Given the description of an element on the screen output the (x, y) to click on. 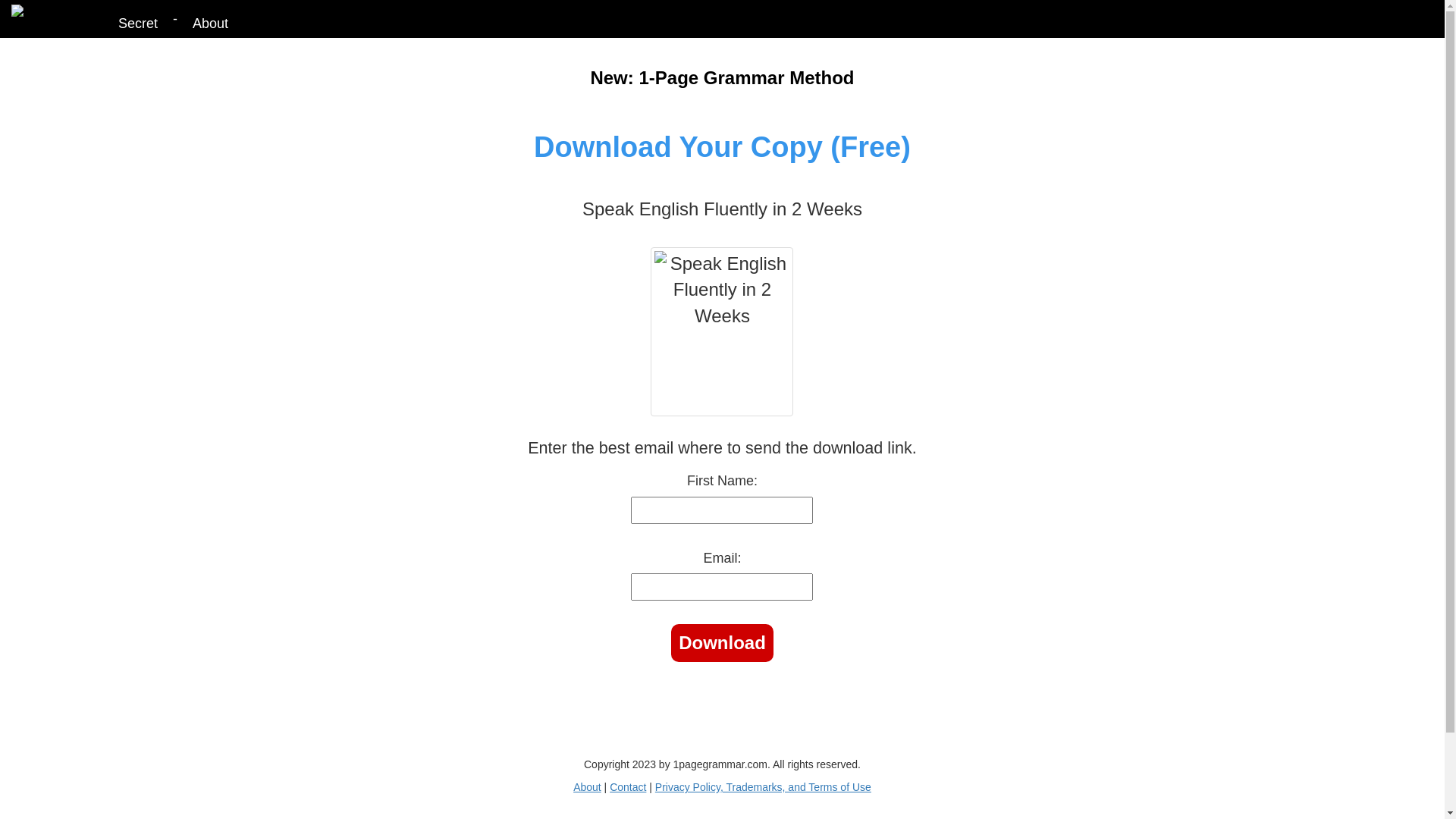
Contact Element type: text (627, 787)
About Element type: text (587, 787)
Secret Element type: text (137, 20)
Download Element type: text (722, 643)
About Element type: text (210, 20)
Privacy Policy, Trademarks, and Terms of Use Element type: text (763, 787)
